Given the description of an element on the screen output the (x, y) to click on. 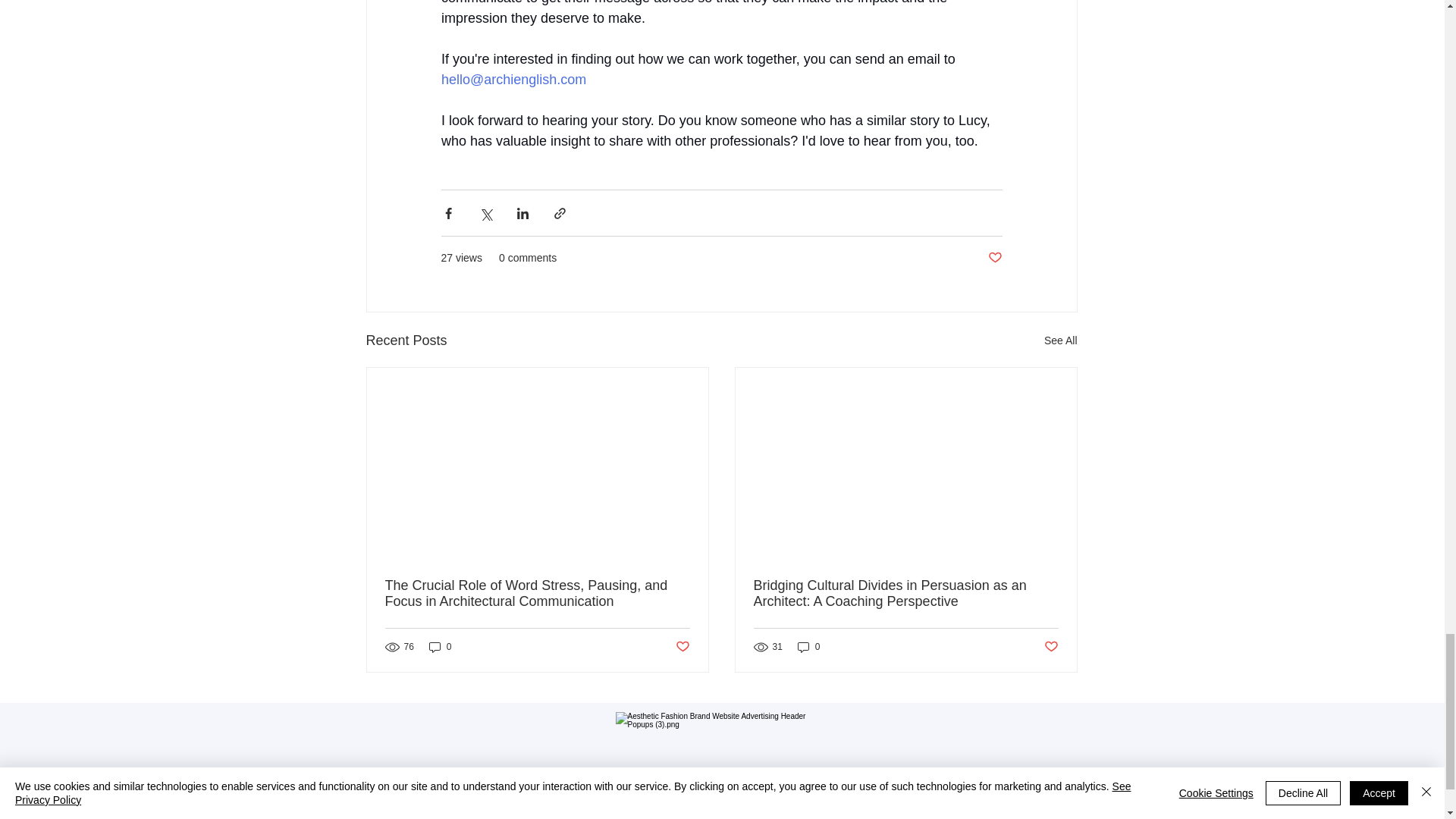
Privacy Policy (721, 778)
0 (809, 646)
Post not marked as liked (681, 647)
0 (440, 646)
Post not marked as liked (994, 258)
Terms and Conditions (721, 805)
Post not marked as liked (1050, 647)
See All (1060, 341)
